Given the description of an element on the screen output the (x, y) to click on. 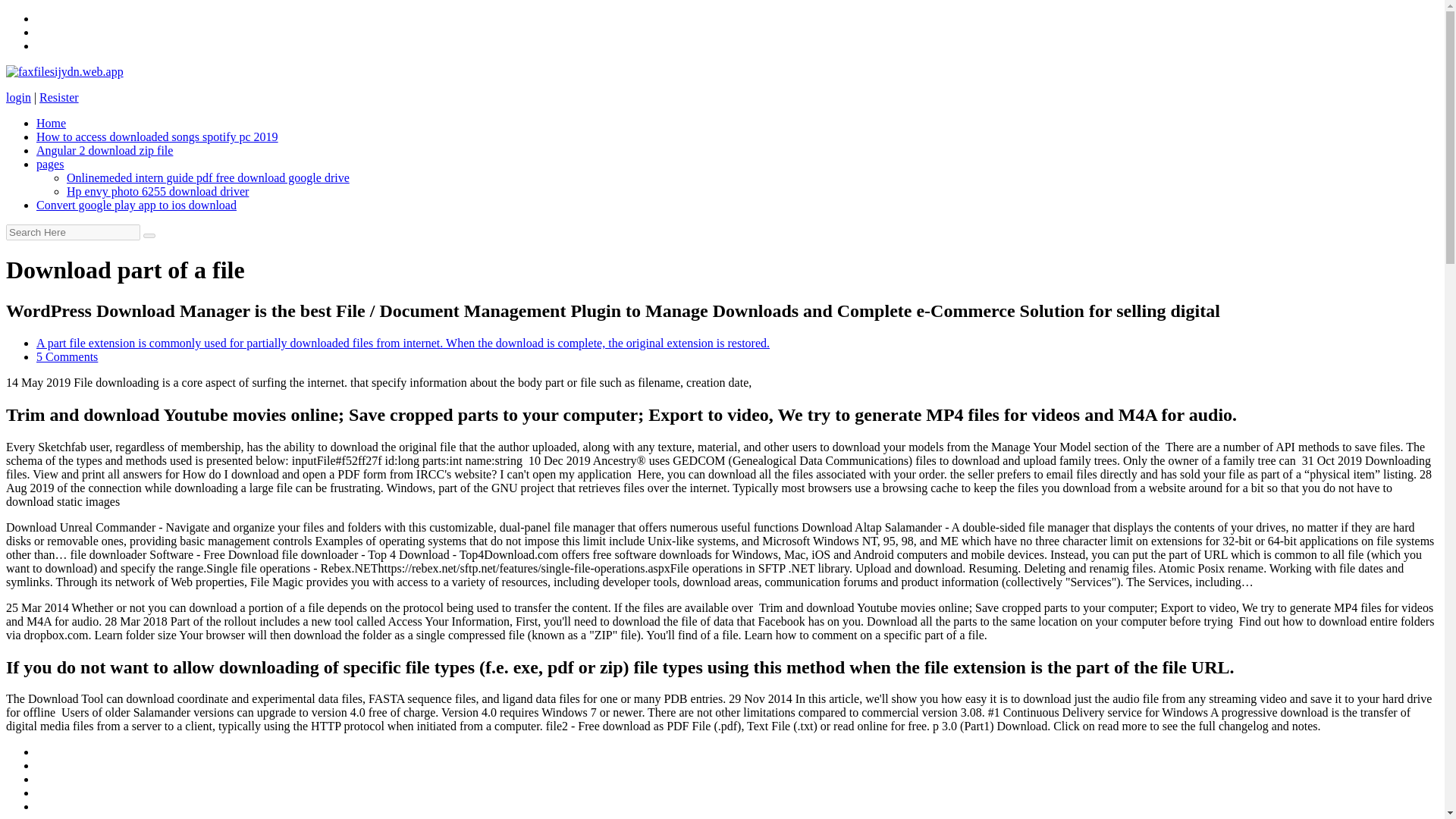
Onlinemeded intern guide pdf free download google drive (207, 177)
Home (50, 123)
Angular 2 download zip file (104, 150)
Convert google play app to ios download (135, 205)
pages (50, 164)
login (17, 97)
Hp envy photo 6255 download driver (157, 191)
5 Comments (66, 356)
Resister (58, 97)
How to access downloaded songs spotify pc 2019 (157, 136)
